Given the description of an element on the screen output the (x, y) to click on. 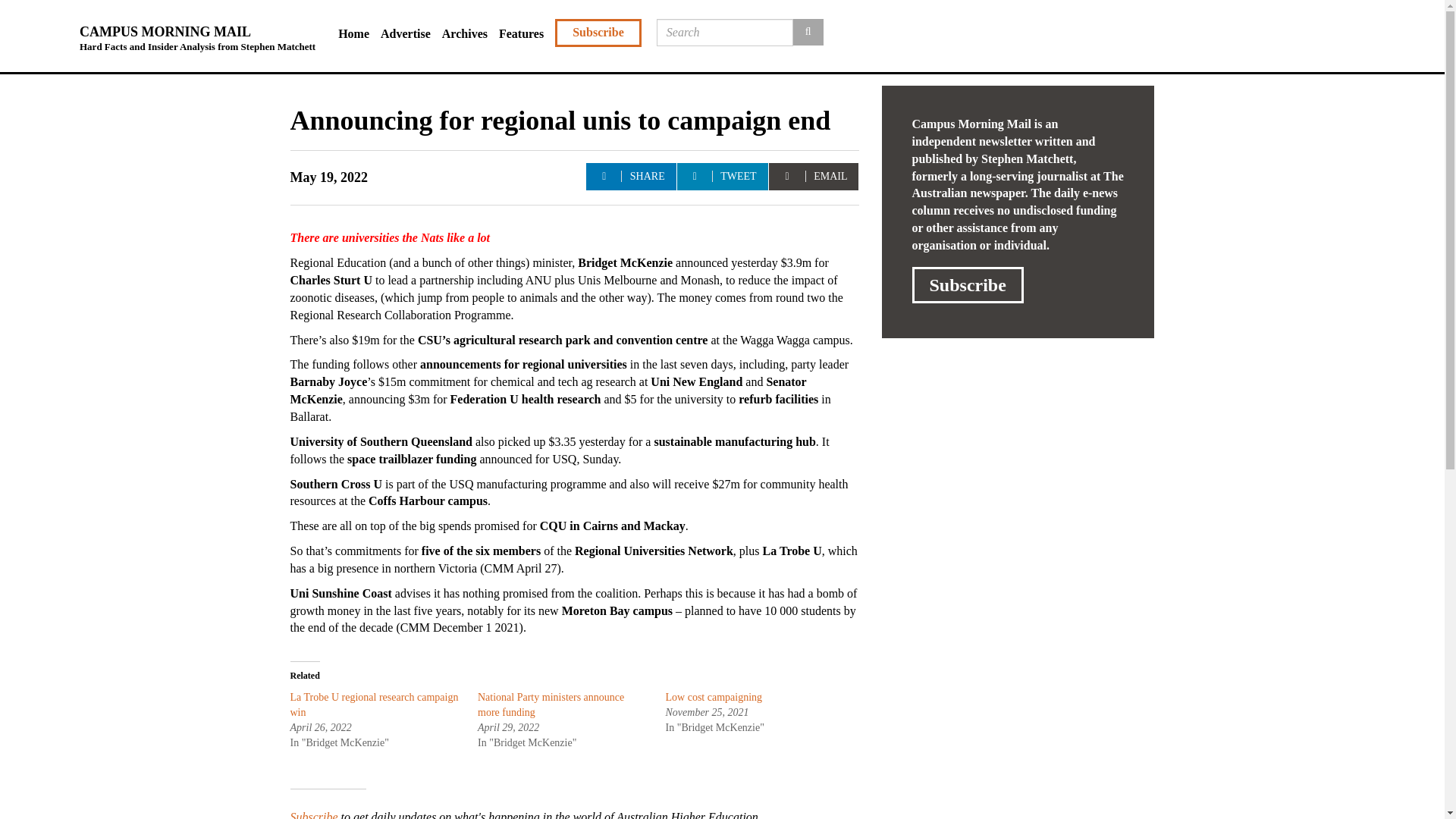
Subscribe (598, 32)
Home (358, 34)
EMAIL (813, 176)
Low cost campaigning (713, 696)
National Party ministers announce more funding (550, 704)
La Trobe U regional research campaign win (373, 704)
Archives (470, 34)
Subscribe (313, 814)
Advertise (411, 34)
SHARE (630, 176)
Share via email (813, 176)
Advertise (411, 34)
Search (808, 31)
Campus Morning Mail (197, 33)
